Given the description of an element on the screen output the (x, y) to click on. 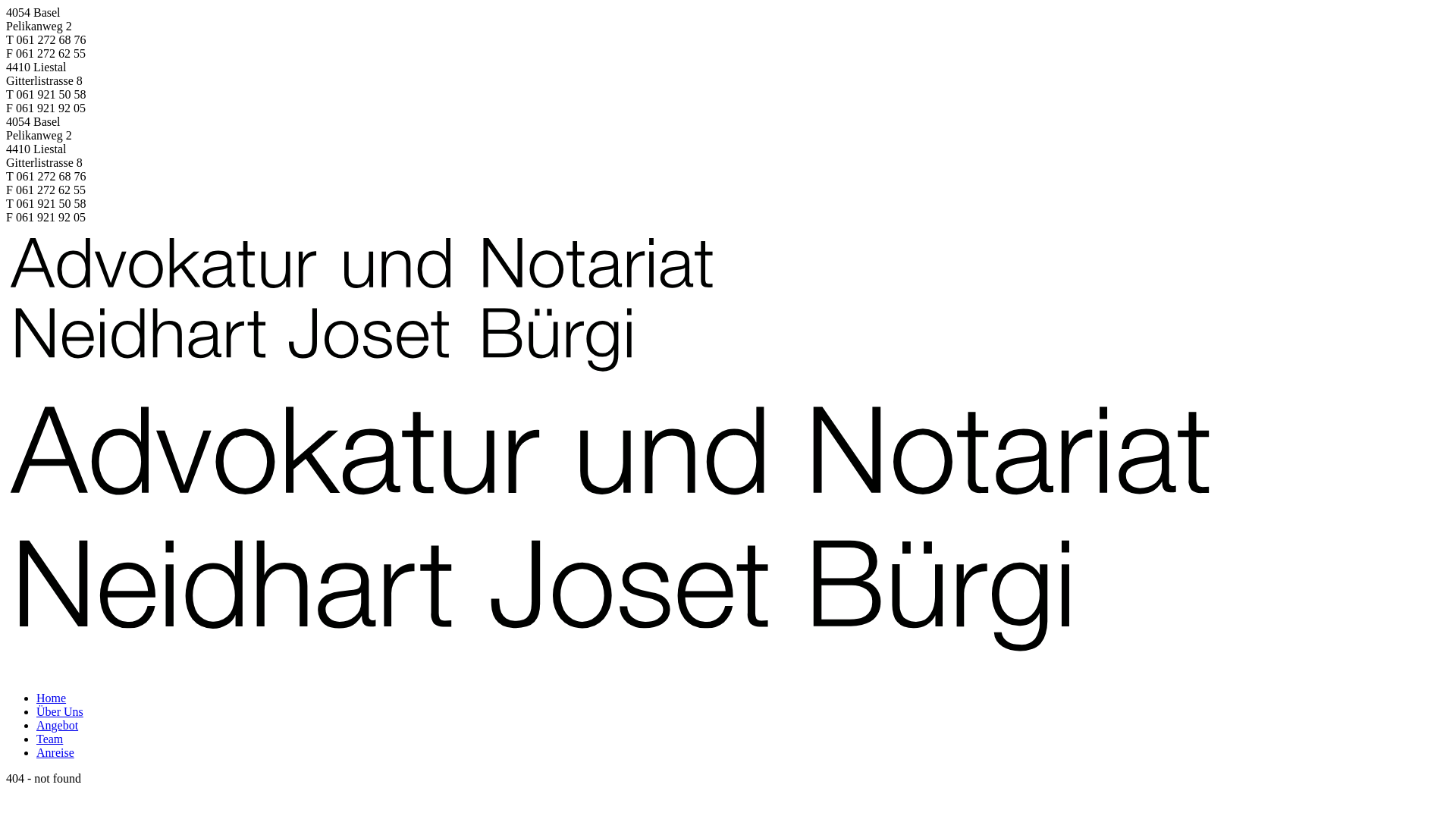
Angebot Element type: text (57, 724)
Home Element type: text (50, 697)
Anreise Element type: text (55, 752)
Team Element type: text (49, 738)
